Given the description of an element on the screen output the (x, y) to click on. 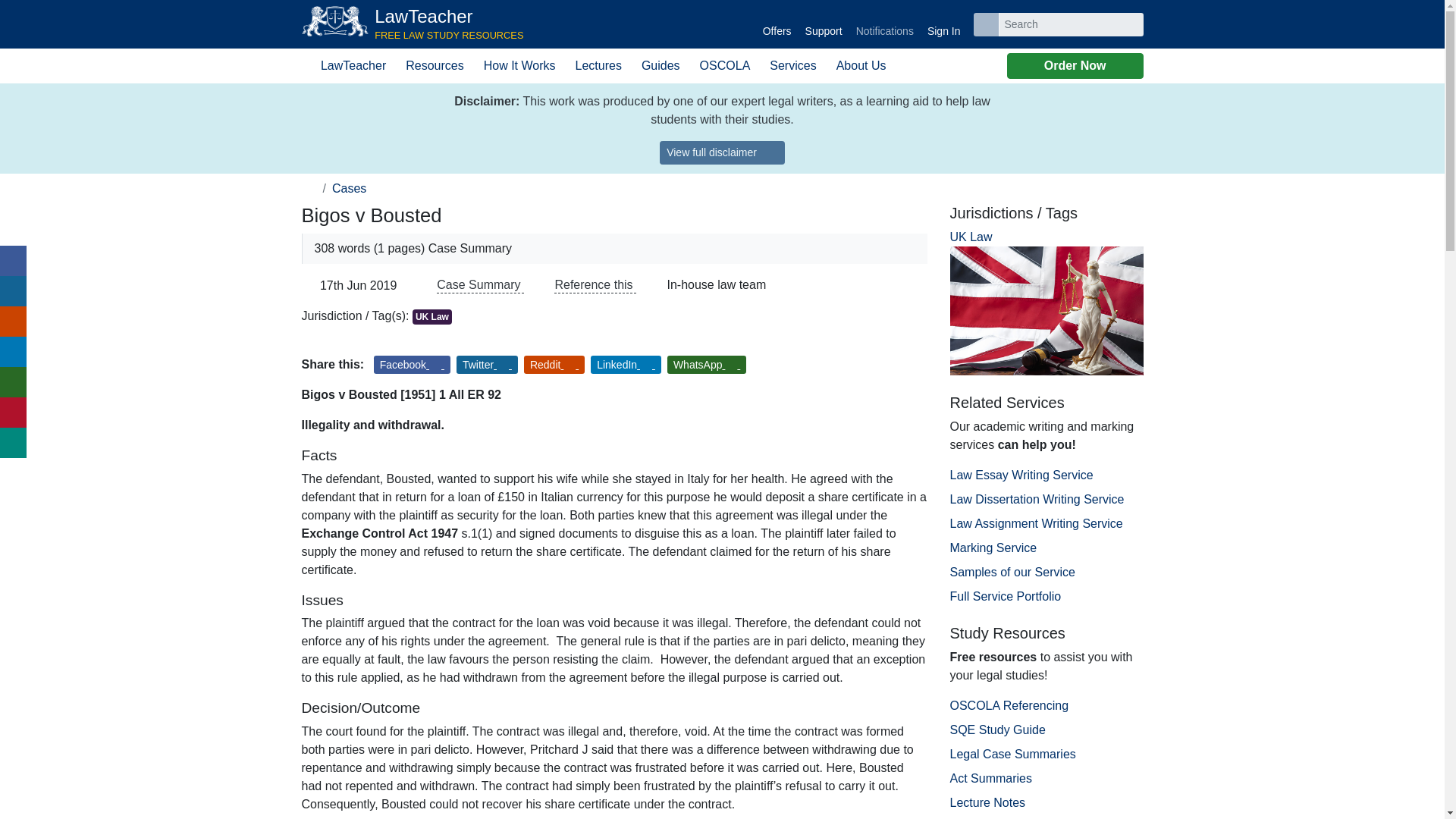
Support (822, 23)
Go to the LawTeacher homepage (412, 23)
Sign In (944, 23)
Notifications (412, 23)
View full disclaimer (884, 23)
Offers (721, 152)
homepage link (776, 23)
